Given the description of an element on the screen output the (x, y) to click on. 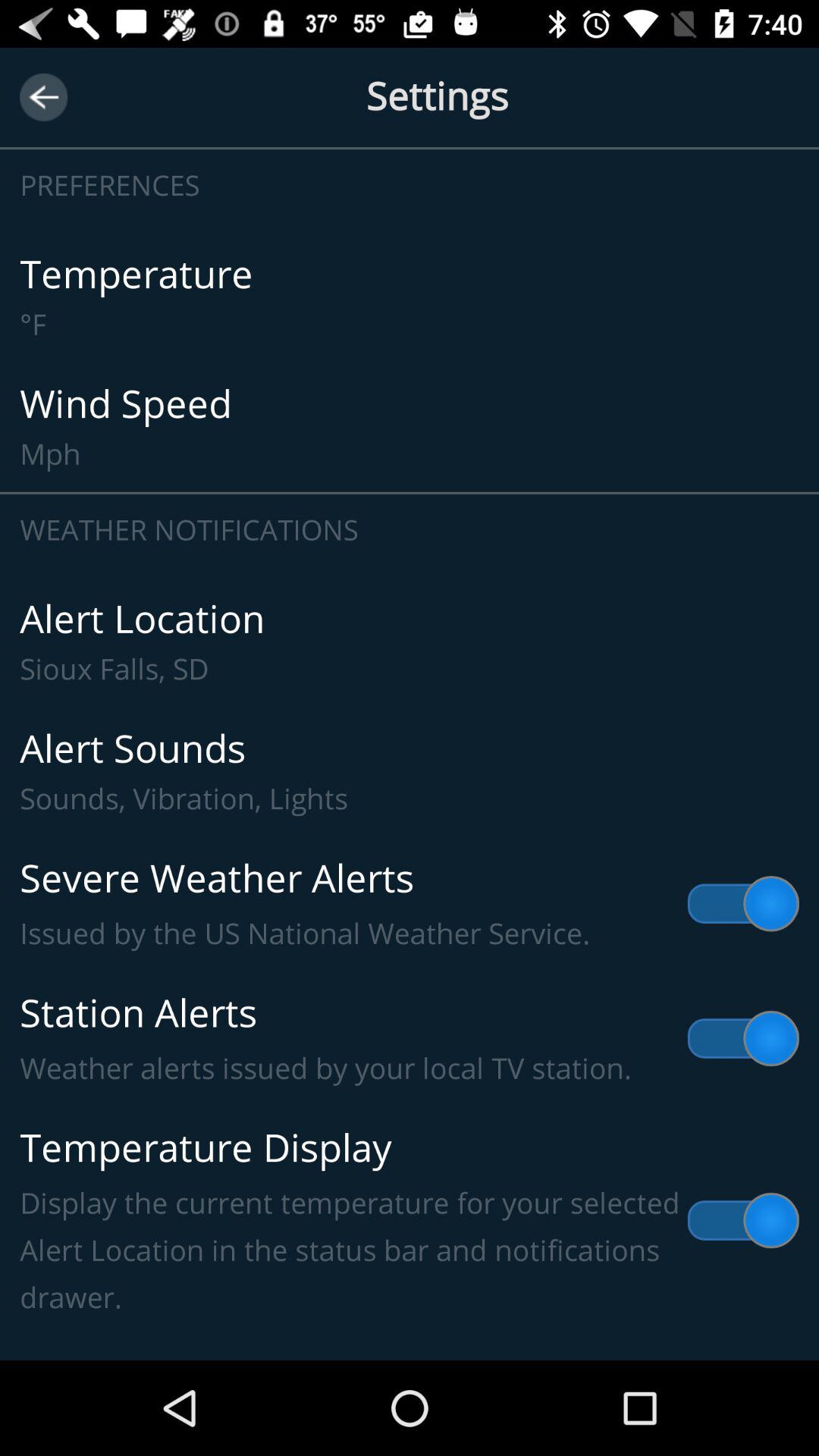
swipe until wind speed
mph item (409, 426)
